Given the description of an element on the screen output the (x, y) to click on. 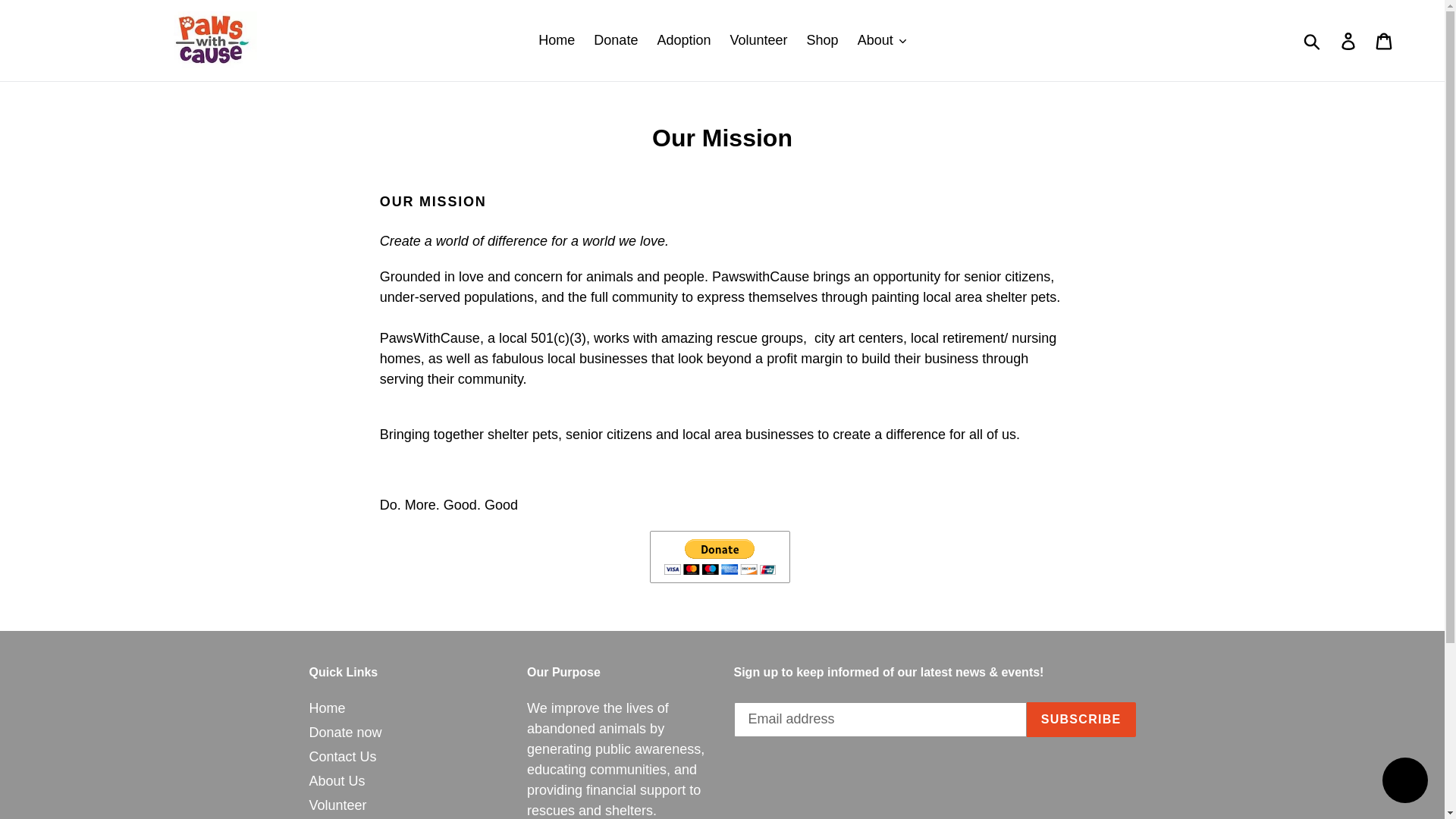
Home (327, 708)
Donate now (344, 732)
Contact Us (342, 756)
Log in (1349, 40)
Home (556, 40)
Cart (1385, 40)
Donate (615, 40)
Volunteer (758, 40)
PayPal - The safer, easier way to pay online! (719, 556)
Shopify online store chat (1404, 781)
